Given the description of an element on the screen output the (x, y) to click on. 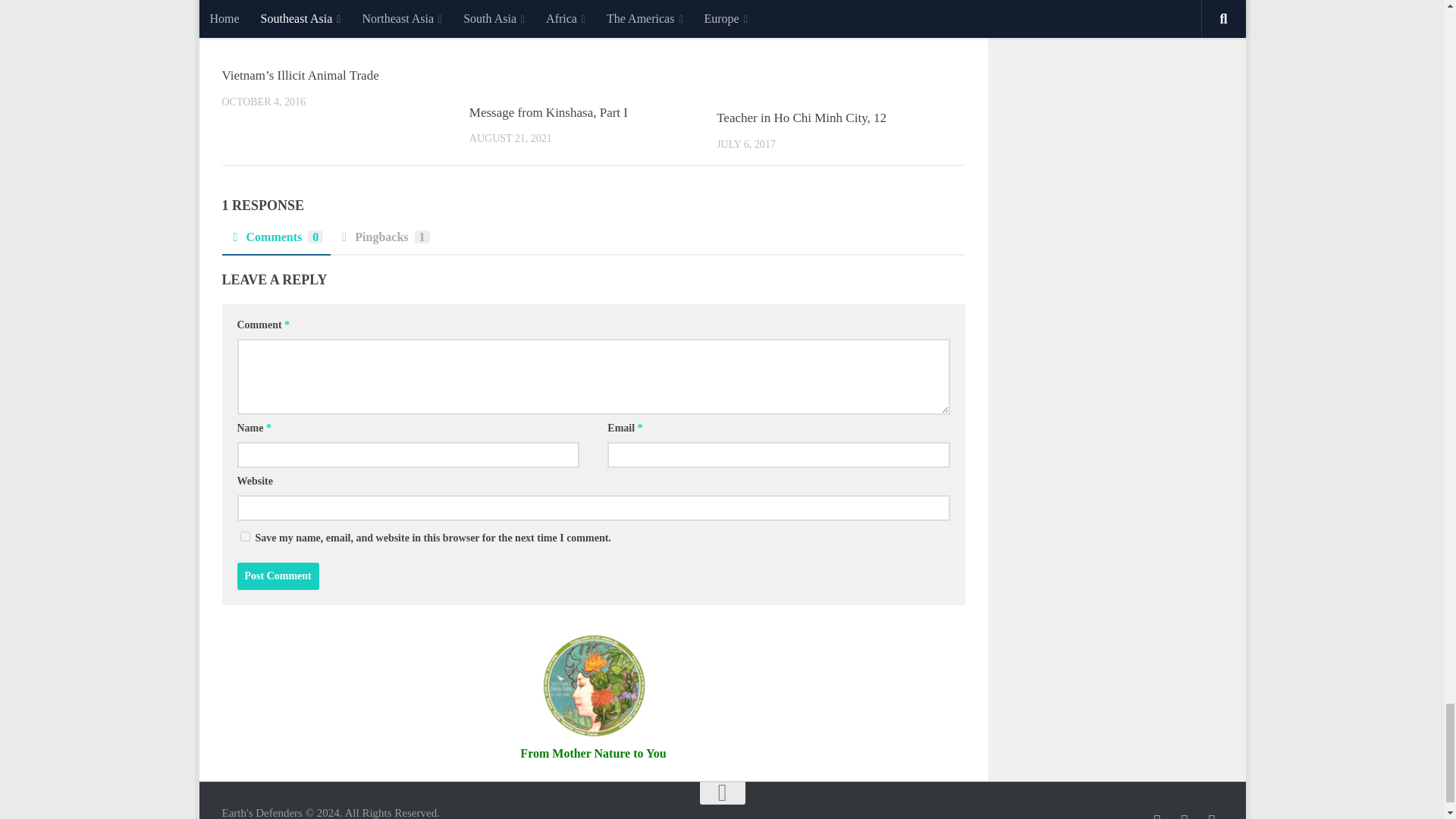
Follow us on Twitter (1184, 815)
Follow us on Linkedin (1212, 815)
yes (244, 536)
Follow us on Facebook (1157, 815)
Post Comment (276, 575)
